Given the description of an element on the screen output the (x, y) to click on. 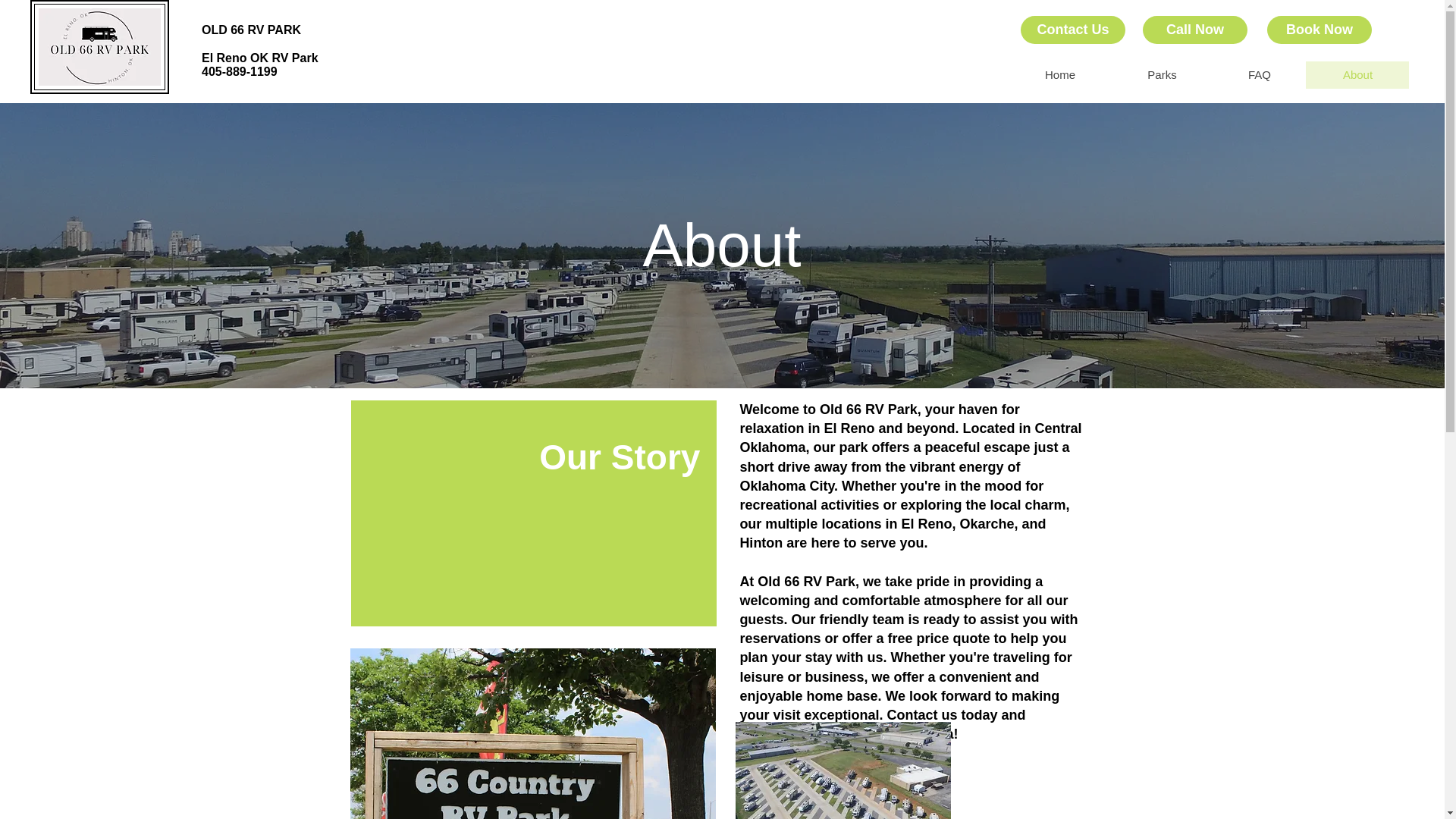
El Reno Old 66 RV Park Tranquil Home (842, 770)
El Reno Old 66 RV Park Tranquil Home (99, 47)
Parks (1161, 74)
El Reno Old 66 RV Park Tranquil Home (533, 733)
OLD 66 RV PARK (251, 29)
Call Now (1194, 29)
Home (1059, 74)
About (1357, 74)
Book Now (1318, 29)
FAQ (1259, 74)
